Given the description of an element on the screen output the (x, y) to click on. 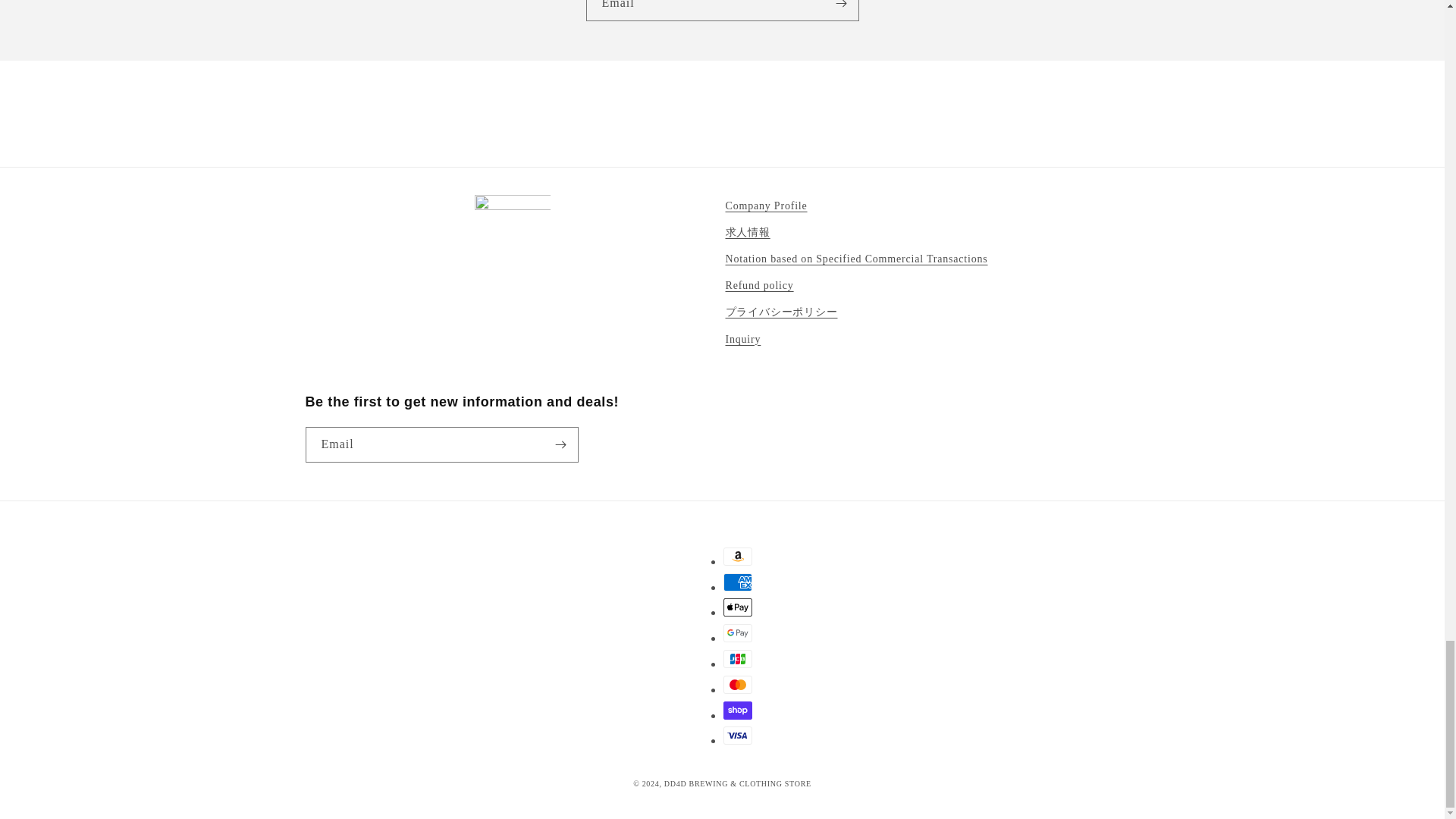
Mastercard (737, 684)
Google Pay (737, 633)
Shop Pay (737, 710)
Amazon (737, 556)
Visa (737, 735)
American Express (737, 582)
JCB (737, 659)
Apple Pay (737, 607)
